Given the description of an element on the screen output the (x, y) to click on. 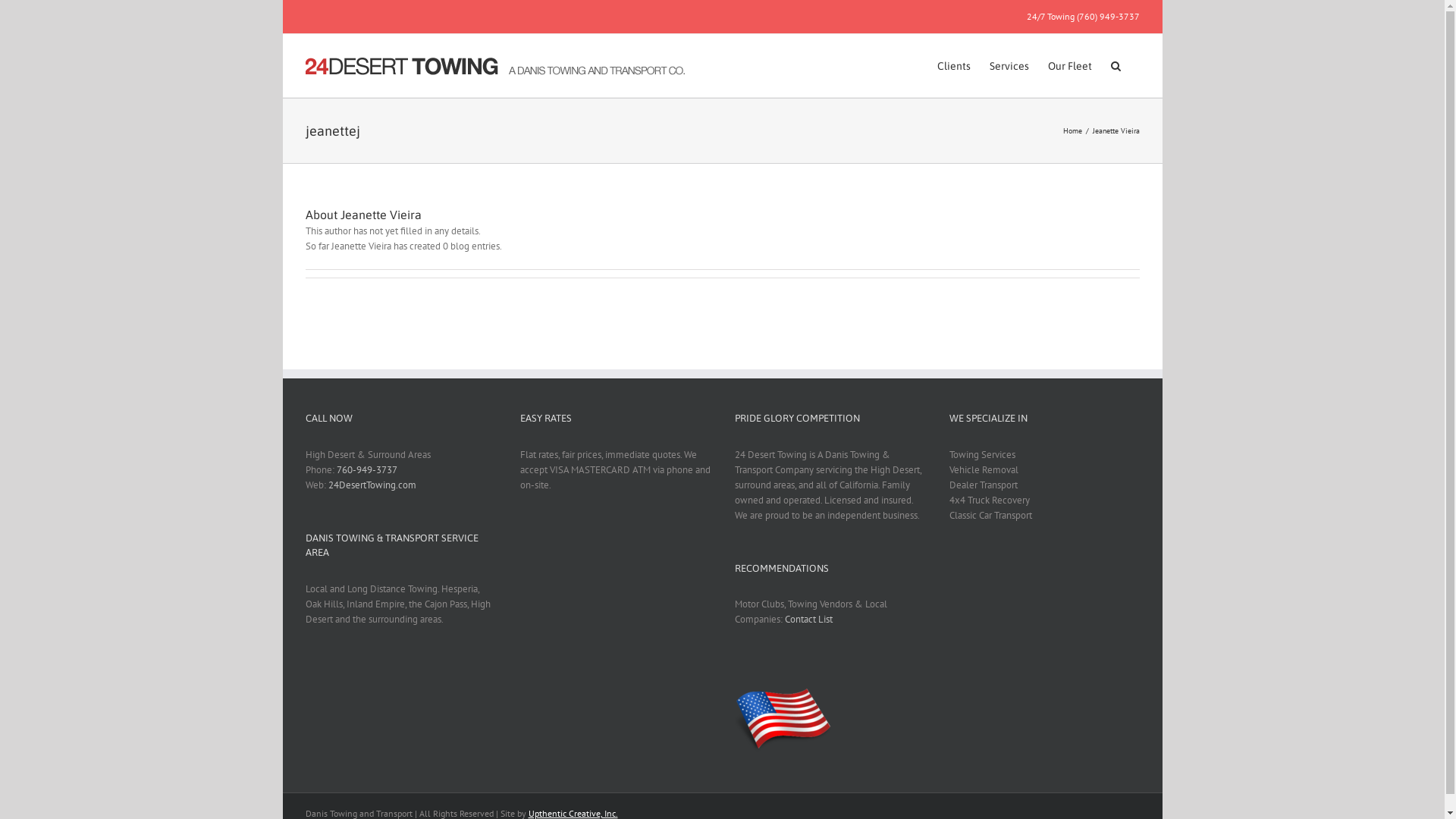
Contact List Element type: text (807, 618)
Home Element type: text (1072, 130)
Our Fleet Element type: text (1070, 65)
24DesertTowing.com Element type: text (371, 484)
760-949-3737 Element type: text (366, 469)
Search Element type: hover (1115, 65)
Services Element type: text (1008, 65)
Clients Element type: text (953, 65)
